Given the description of an element on the screen output the (x, y) to click on. 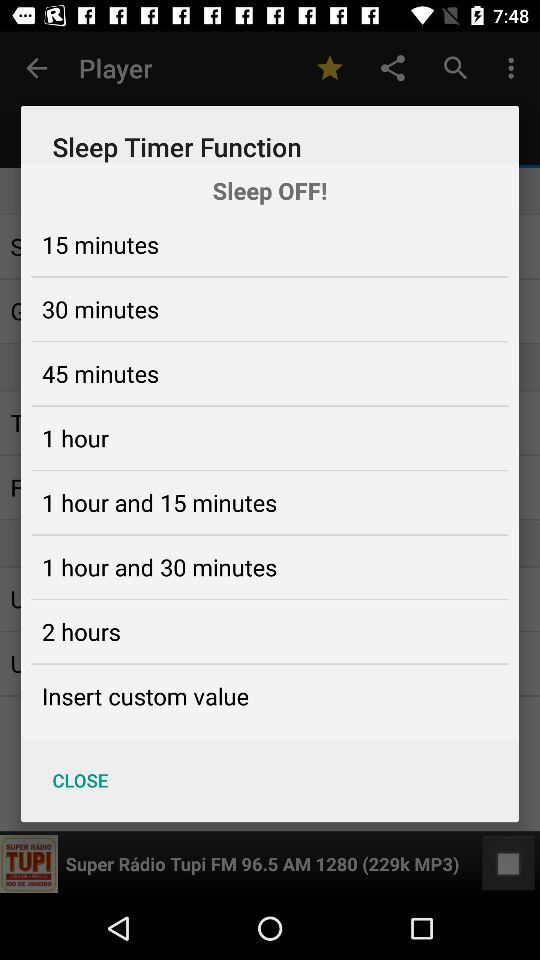
jump to the 2 hours icon (81, 631)
